Given the description of an element on the screen output the (x, y) to click on. 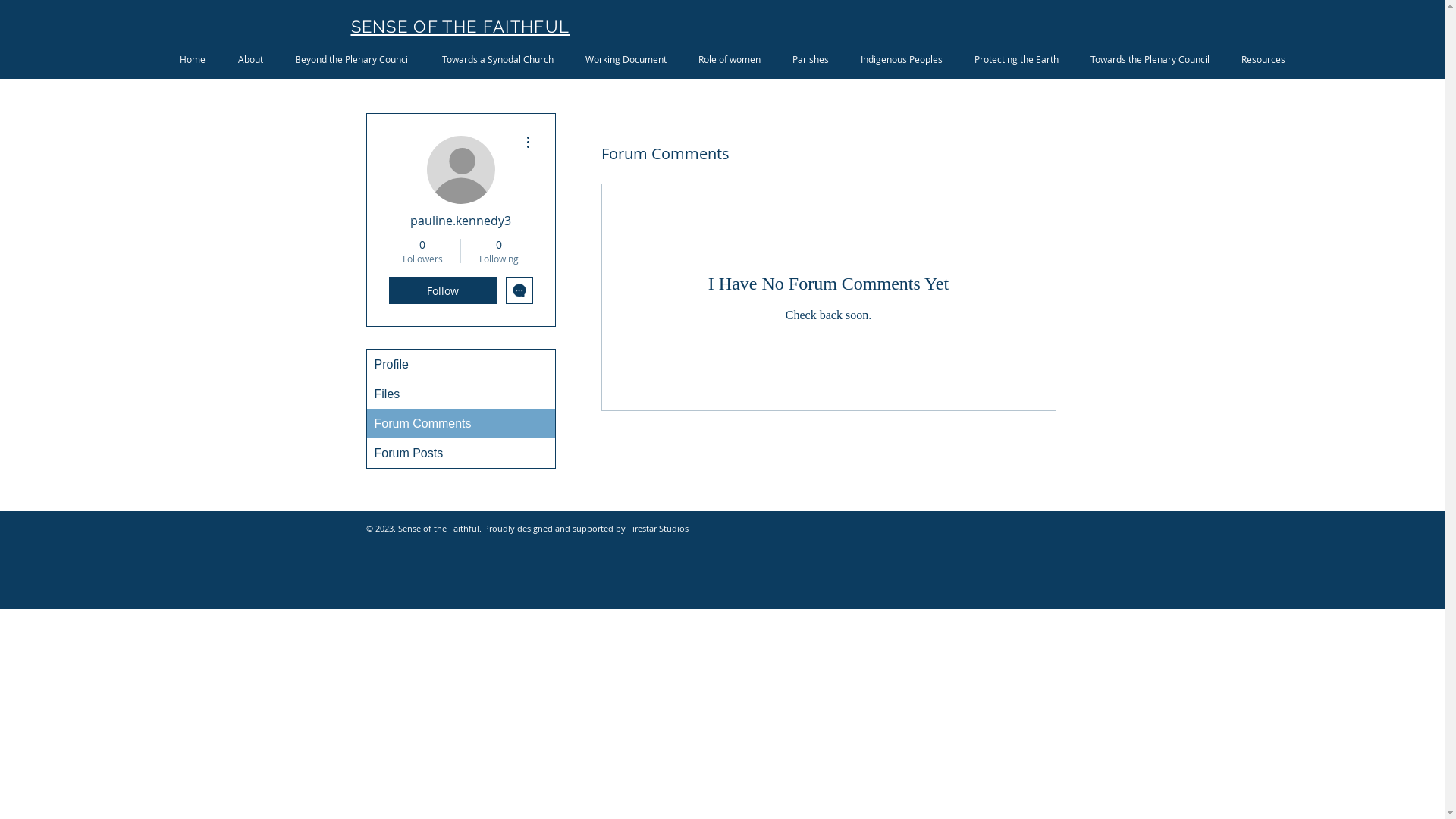
0
Following Element type: text (499, 250)
About Element type: text (250, 59)
Towards the Plenary Council Element type: text (1150, 59)
Profile Element type: text (461, 364)
Indigenous Peoples Element type: text (901, 59)
Resources Element type: text (1263, 59)
Towards a Synodal Church Element type: text (497, 59)
Working Document Element type: text (626, 59)
Forum Posts Element type: text (461, 452)
Role of women Element type: text (729, 59)
Forum Comments Element type: text (461, 423)
0
Followers Element type: text (421, 250)
Beyond the Plenary Council Element type: text (352, 59)
Follow Element type: text (441, 290)
Home Element type: text (192, 59)
SENSE OF THE FAITHFUL Element type: text (459, 26)
Files Element type: text (461, 393)
Parishes Element type: text (810, 59)
Protecting the Earth Element type: text (1016, 59)
